Given the description of an element on the screen output the (x, y) to click on. 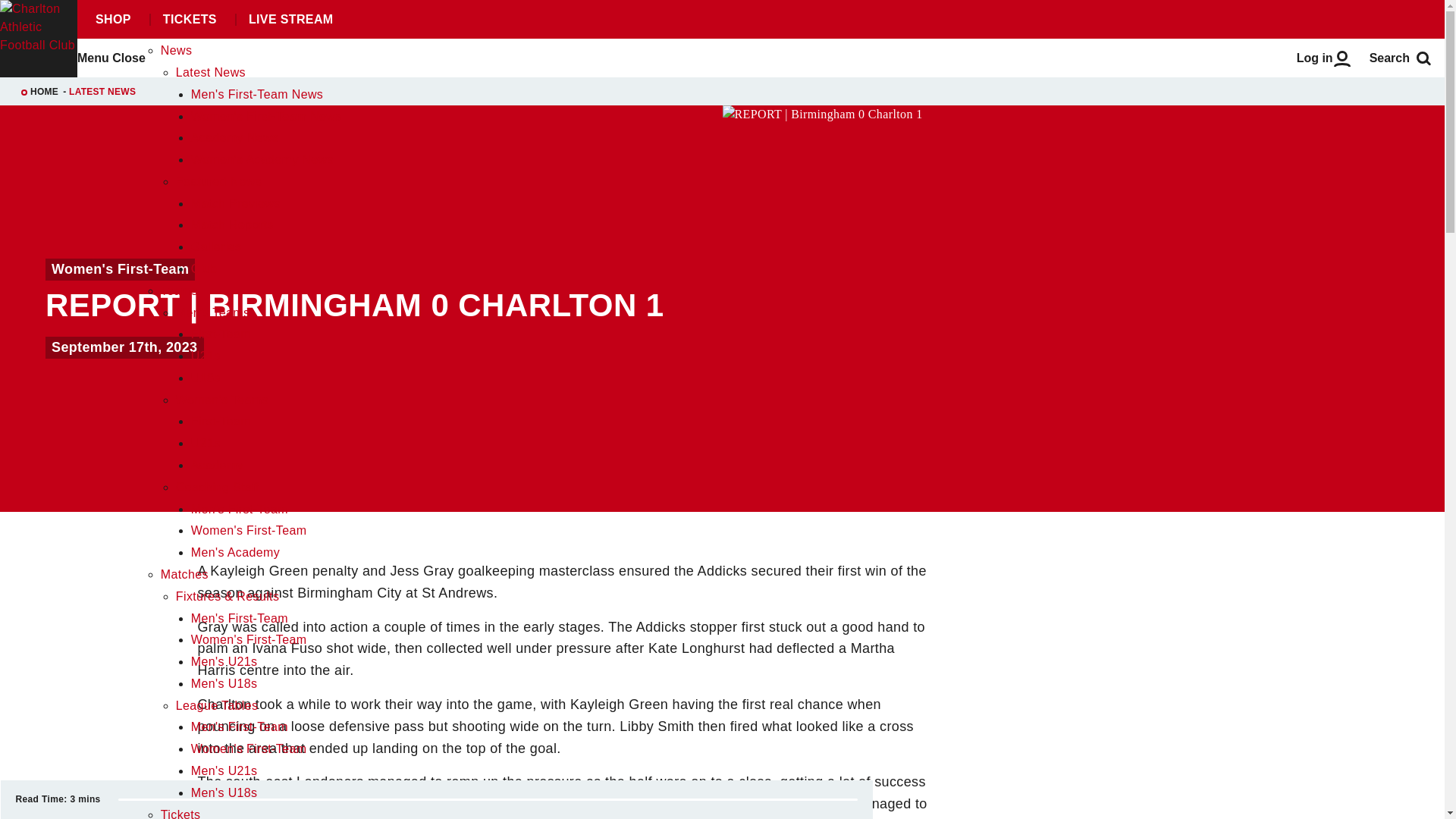
Featured News (219, 181)
Men's First-Team News (256, 93)
Coaching Staff (217, 486)
LIVE STREAM (290, 19)
TICKETS (188, 19)
Women's Academy News (261, 159)
Men's First-Team News (256, 93)
U21s (205, 355)
Men's First-Team (239, 508)
Galleries (215, 246)
